Given the description of an element on the screen output the (x, y) to click on. 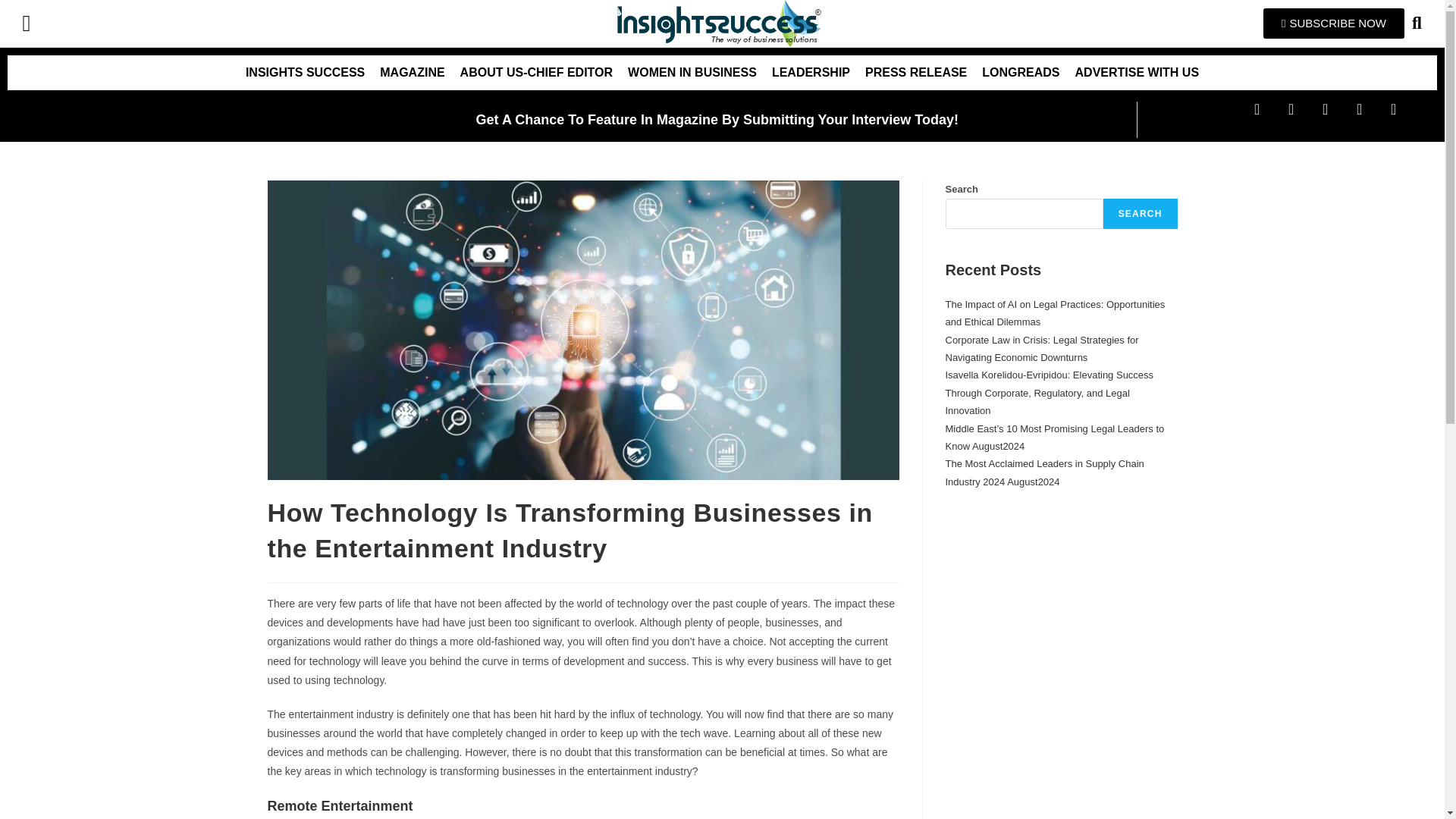
ADVERTISE WITH US (1137, 72)
WOMEN IN BUSINESS (692, 72)
ABOUT US-CHIEF EDITOR (536, 72)
PRESS RELEASE (915, 72)
LONGREADS (1020, 72)
SUBSCRIBE NOW (1334, 23)
SEARCH (1140, 214)
LEADERSHIP (810, 72)
